Given the description of an element on the screen output the (x, y) to click on. 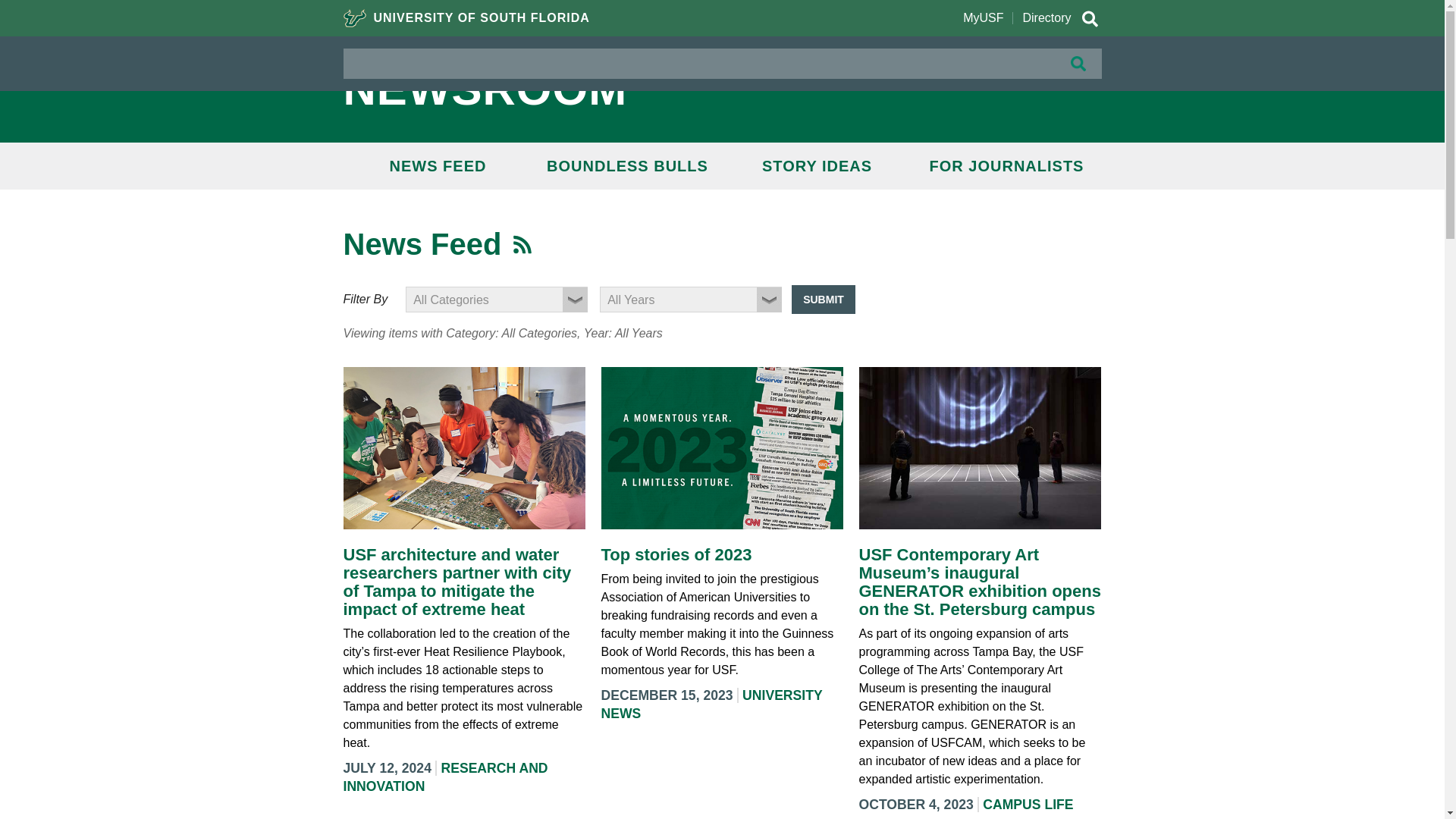
GIVE NOW (1039, 69)
FOR JOURNALISTS (1005, 165)
RESEARCH AND INNOVATION (444, 776)
UNIVERSITY OF SOUTH FLORIDA (465, 18)
STORY IDEAS (816, 165)
UNIVERSITY NEWS (710, 704)
MyUSF (982, 18)
Directory (1046, 18)
Top stories of 2023 (675, 554)
NEWSROOM (607, 89)
NEWS FEED (437, 165)
CAMPUS LIFE (1027, 804)
BOUNDLESS BULLS (627, 165)
SUBMIT (824, 299)
